Given the description of an element on the screen output the (x, y) to click on. 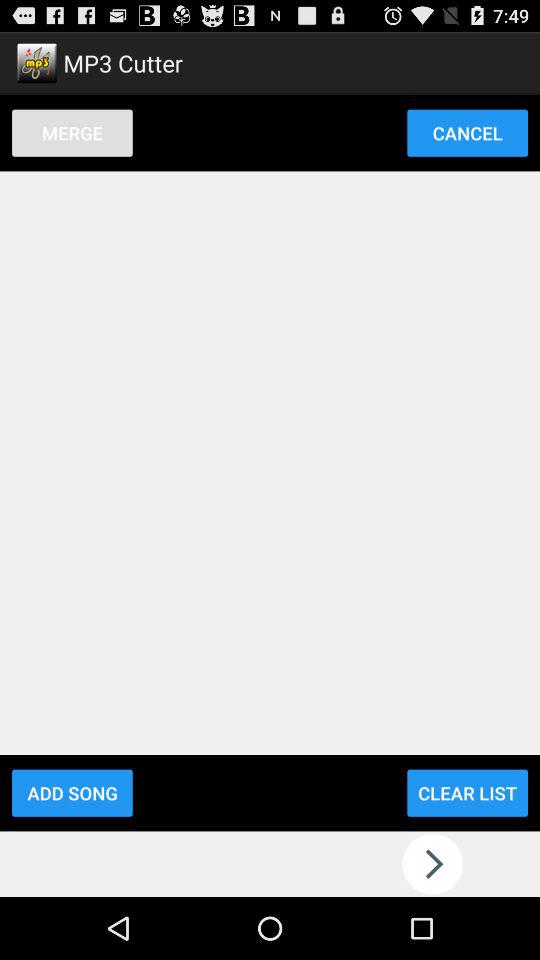
scroll until merge icon (72, 132)
